Given the description of an element on the screen output the (x, y) to click on. 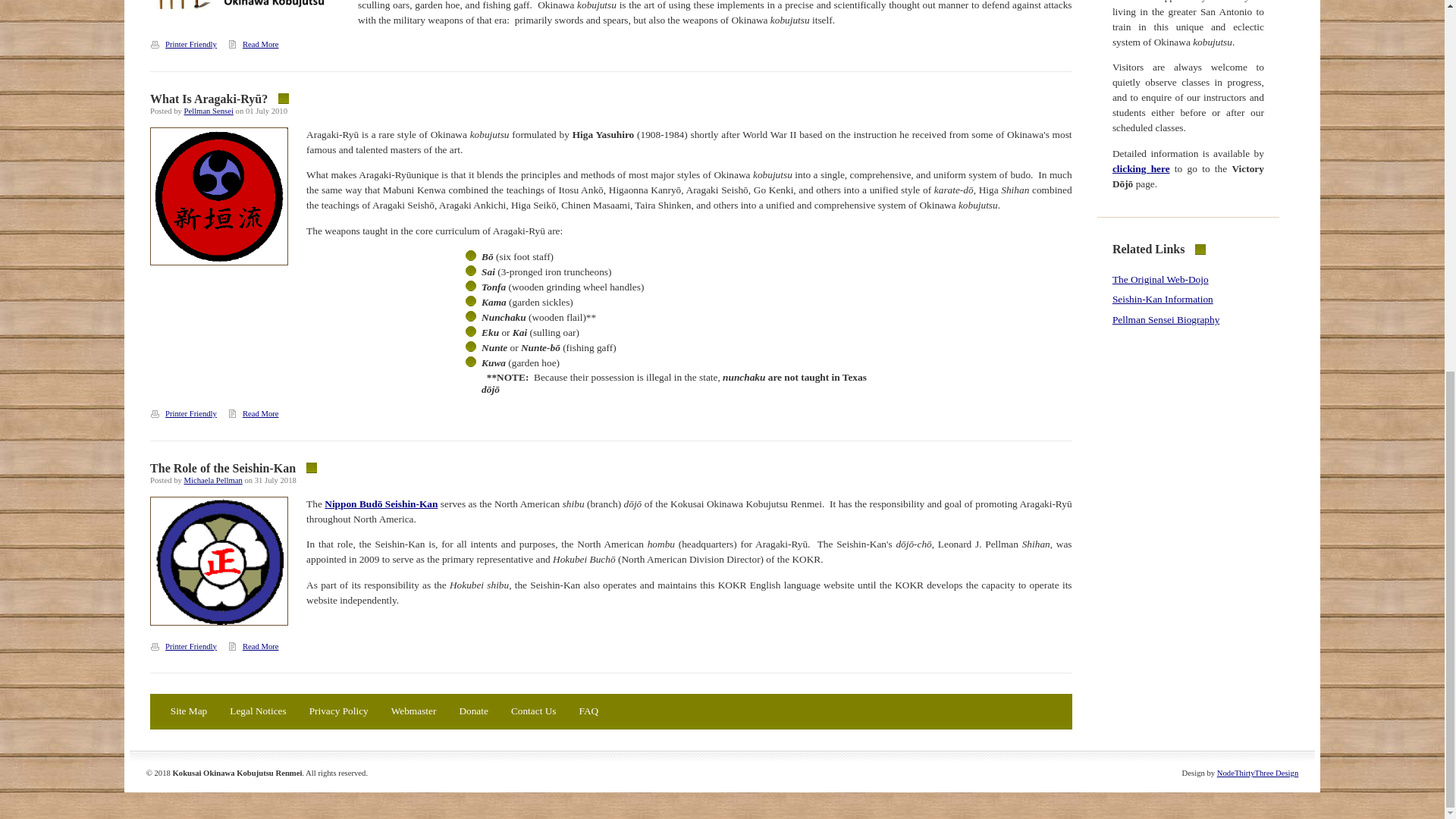
Printer Friendly (186, 44)
Printer Friendly (186, 646)
Read More (256, 646)
Seishin-Kan Information (1162, 298)
The Original Web-Dojo (1160, 279)
Pellman Sensei Biography (1166, 319)
Michaela Pellman (213, 479)
Site Map (188, 712)
Read More (256, 413)
Legal Notices (258, 712)
